Given the description of an element on the screen output the (x, y) to click on. 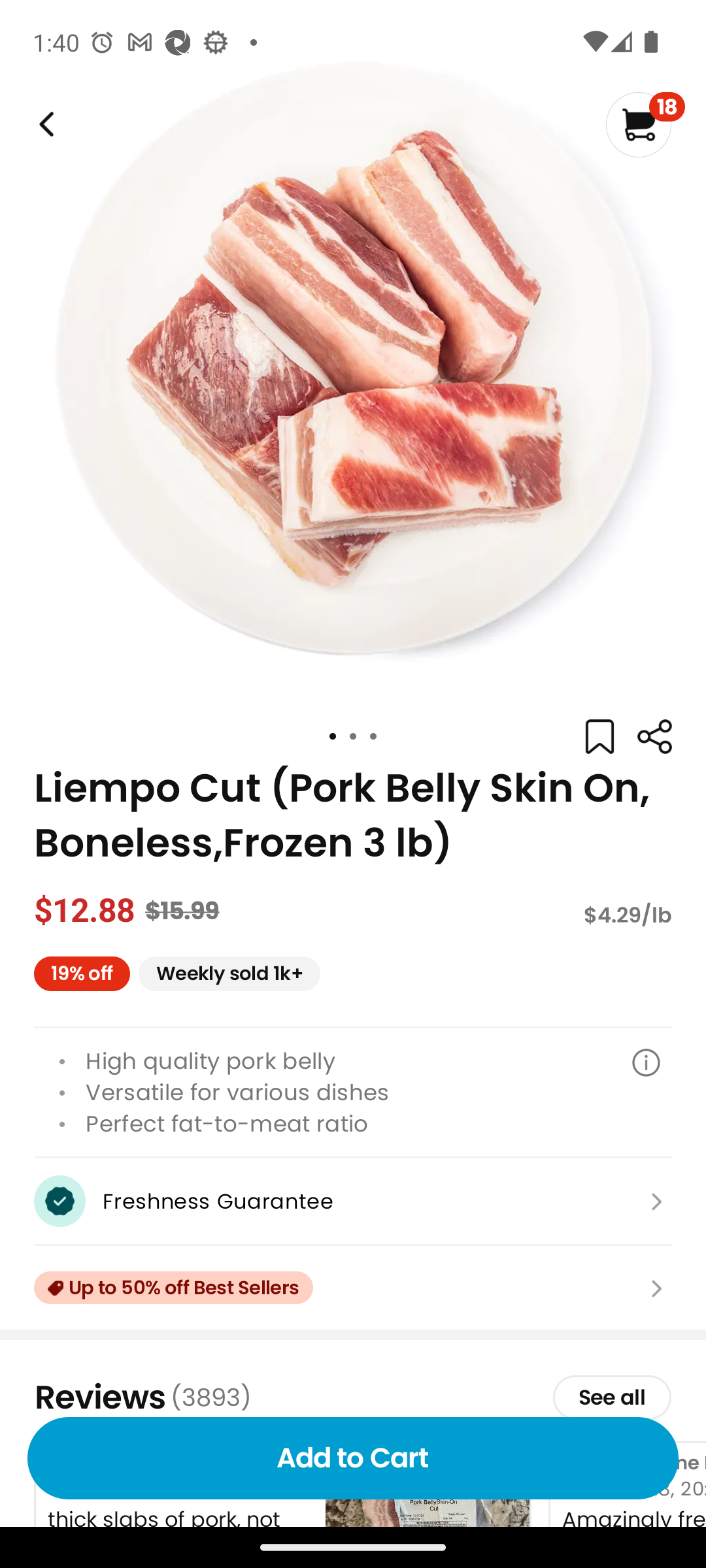
18 (644, 124)
Weee! (45, 124)
Weee! (653, 736)
Freshness Guarantee (352, 1200)
Up to 50% off Best Sellers (352, 1287)
Reviews (3893) See all (353, 1397)
Add to Cart (352, 1458)
